Given the description of an element on the screen output the (x, y) to click on. 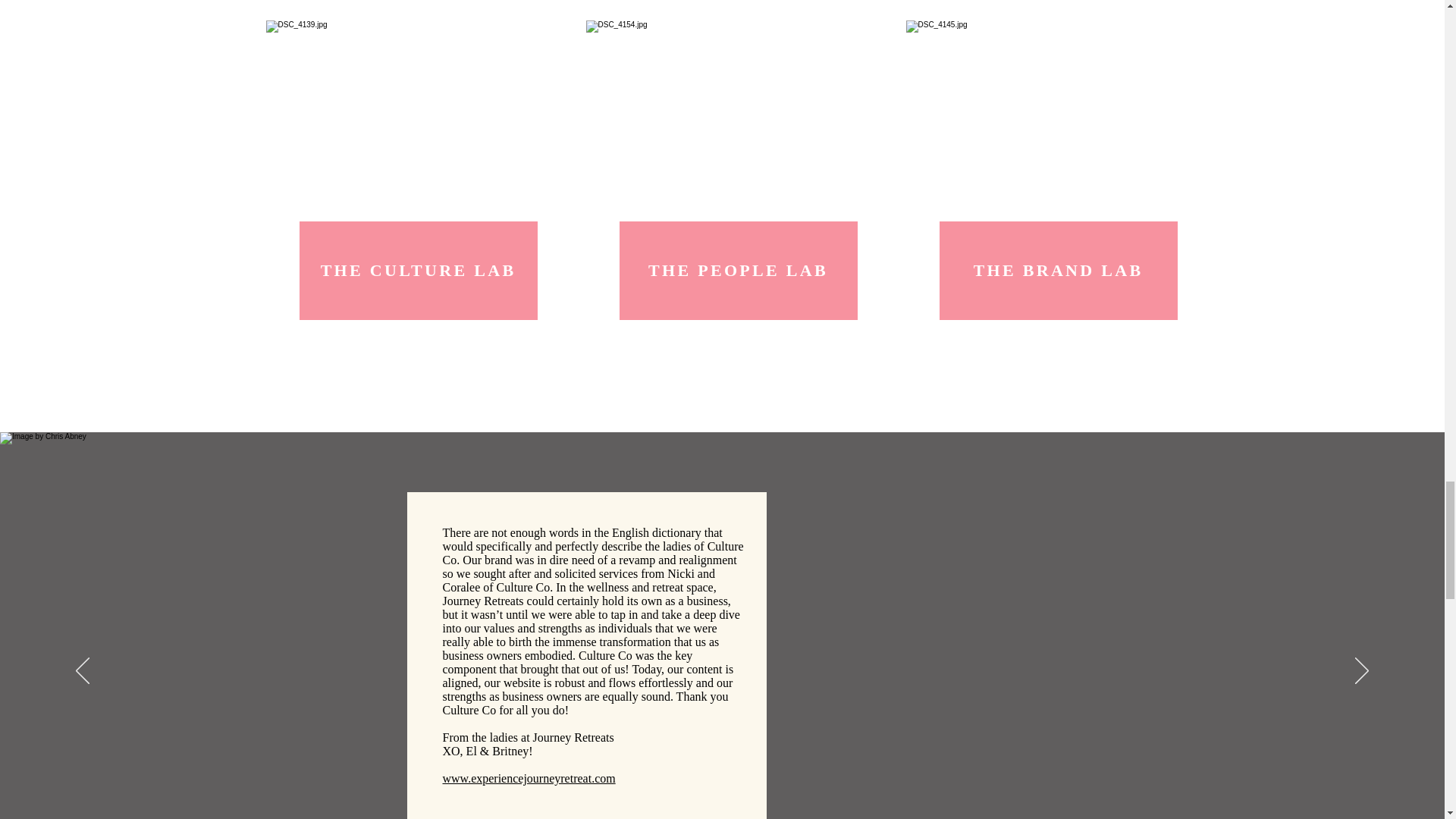
THE PEOPLE LAB (737, 270)
www.experiencejourneyretreat.com (528, 778)
THE CULTURE LAB (417, 270)
THE BRAND LAB (1057, 270)
